Given the description of an element on the screen output the (x, y) to click on. 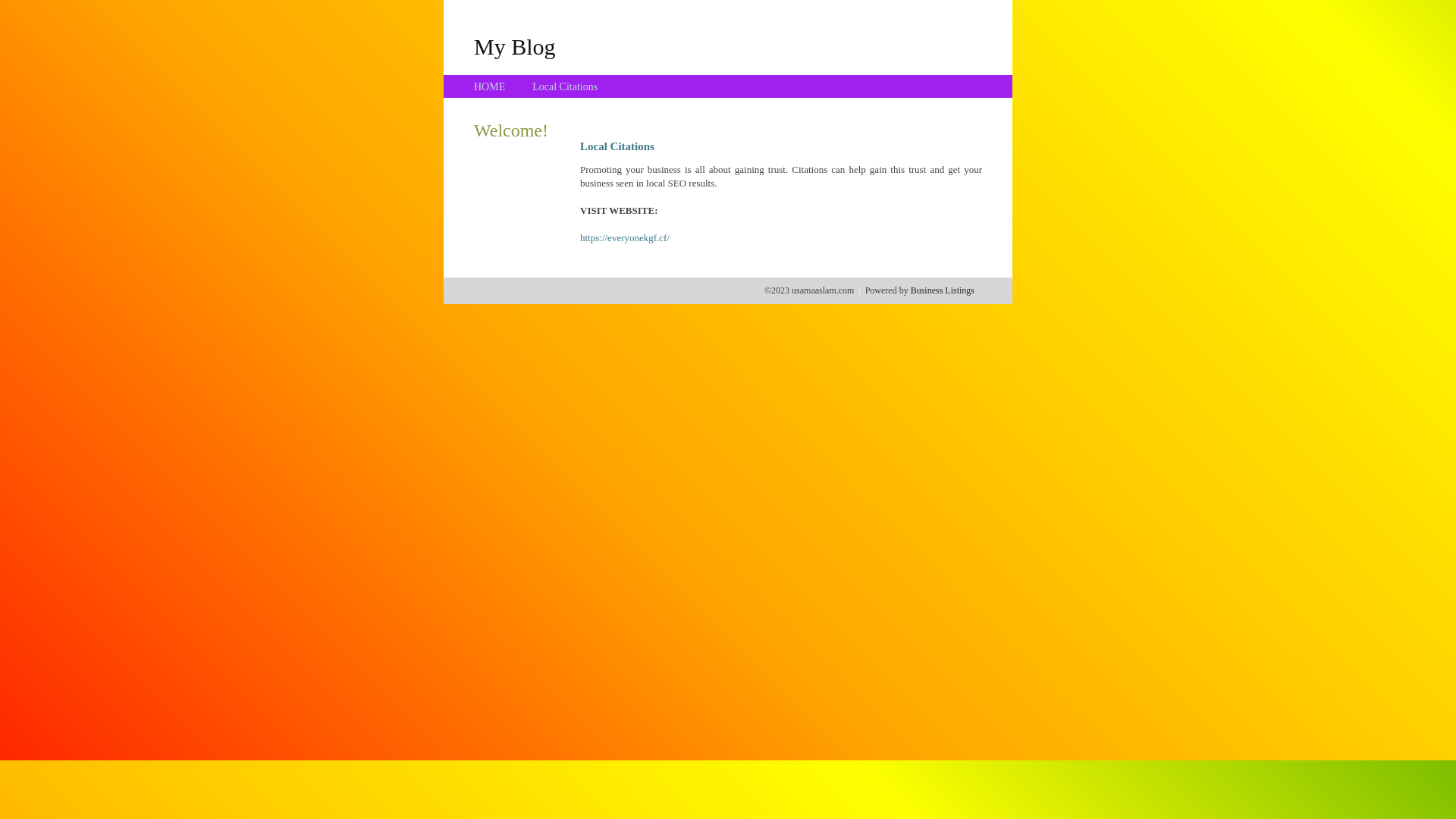
My Blog Element type: text (514, 46)
Business Listings Element type: text (942, 290)
Local Citations Element type: text (564, 86)
HOME Element type: text (489, 86)
https://everyonekgf.cf/ Element type: text (624, 237)
